Given the description of an element on the screen output the (x, y) to click on. 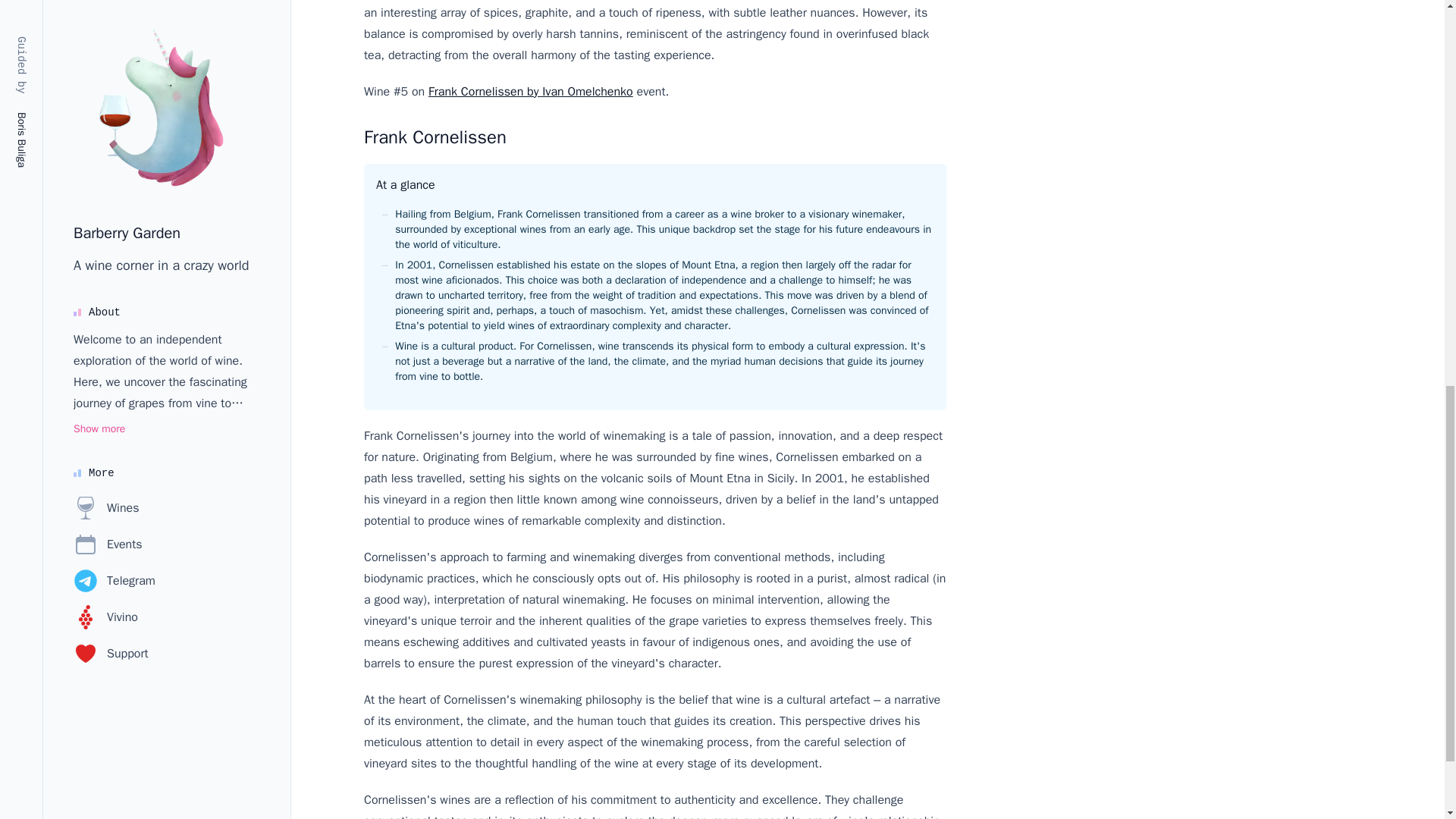
Frank Cornelissen by Ivan Omelchenko (530, 91)
